Given the description of an element on the screen output the (x, y) to click on. 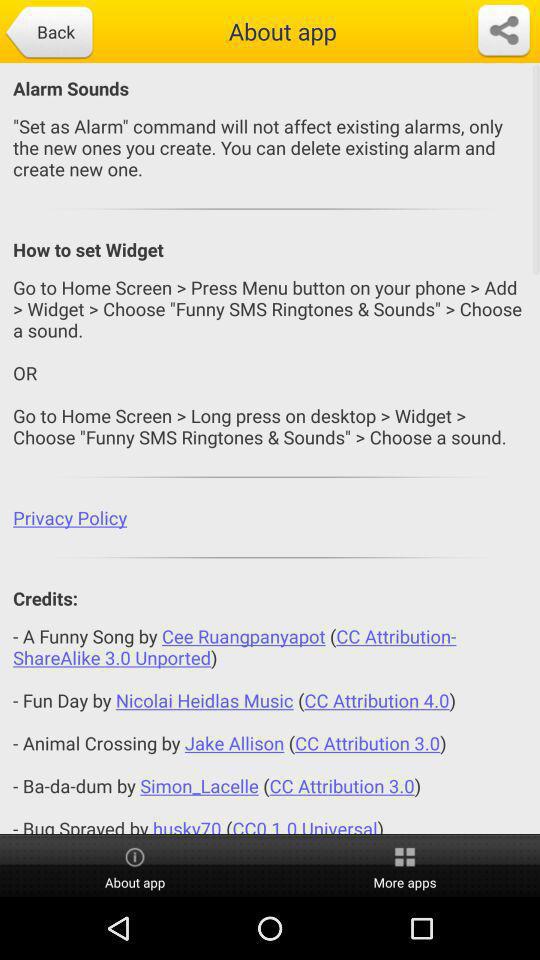
a place to share the link for a page to different places (503, 31)
